Given the description of an element on the screen output the (x, y) to click on. 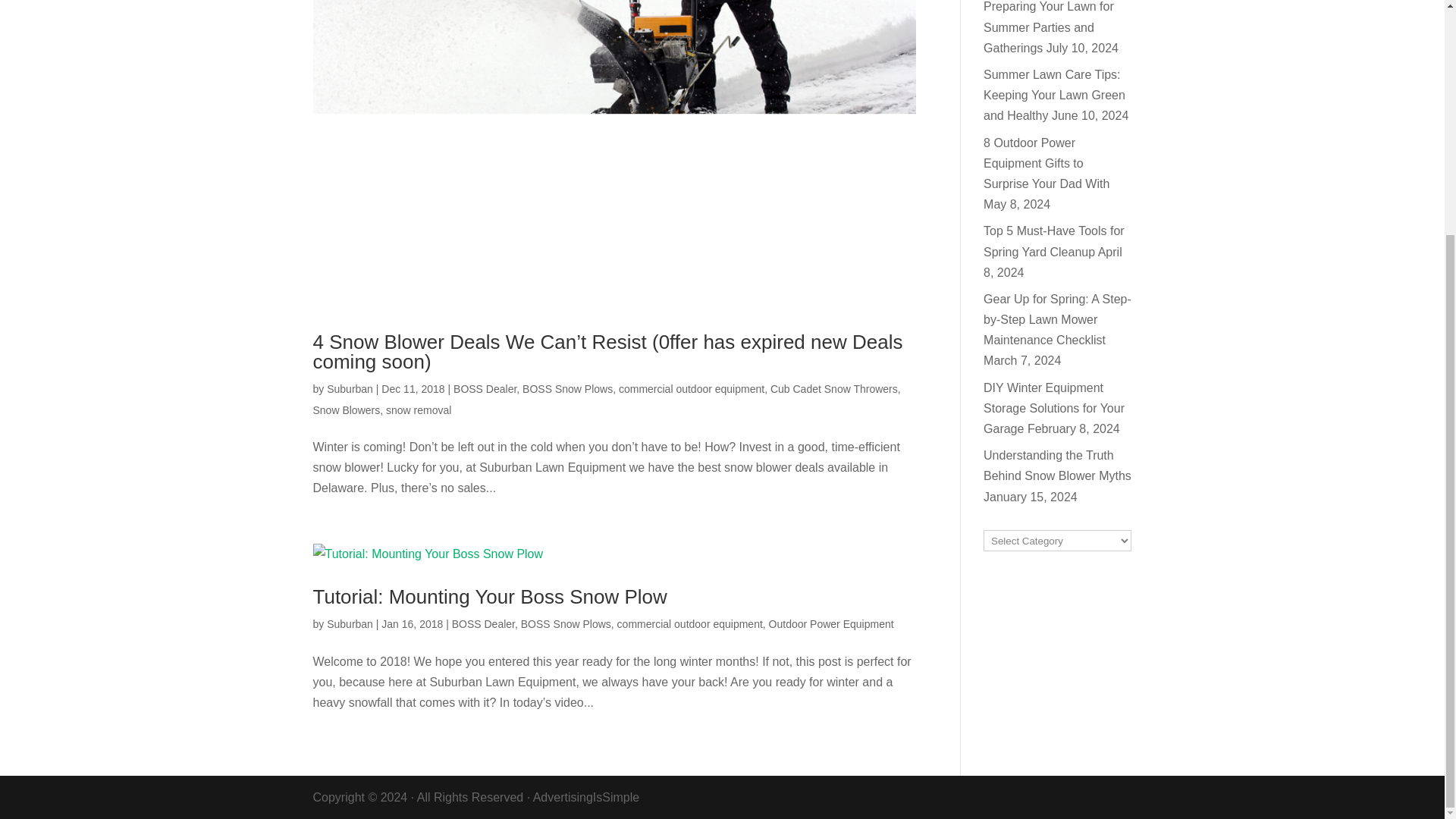
Suburban (349, 388)
snow removal (418, 410)
Suburban (349, 623)
Outdoor Power Equipment (830, 623)
DIY Winter Equipment Storage Solutions for Your Garage (1054, 407)
BOSS Dealer (484, 388)
Understanding the Truth Behind Snow Blower Myths (1057, 465)
Snow Blowers (346, 410)
8 Outdoor Power Equipment Gifts to Surprise Your Dad With (1046, 163)
Tutorial: Mounting Your Boss Snow Plow (489, 596)
